Given the description of an element on the screen output the (x, y) to click on. 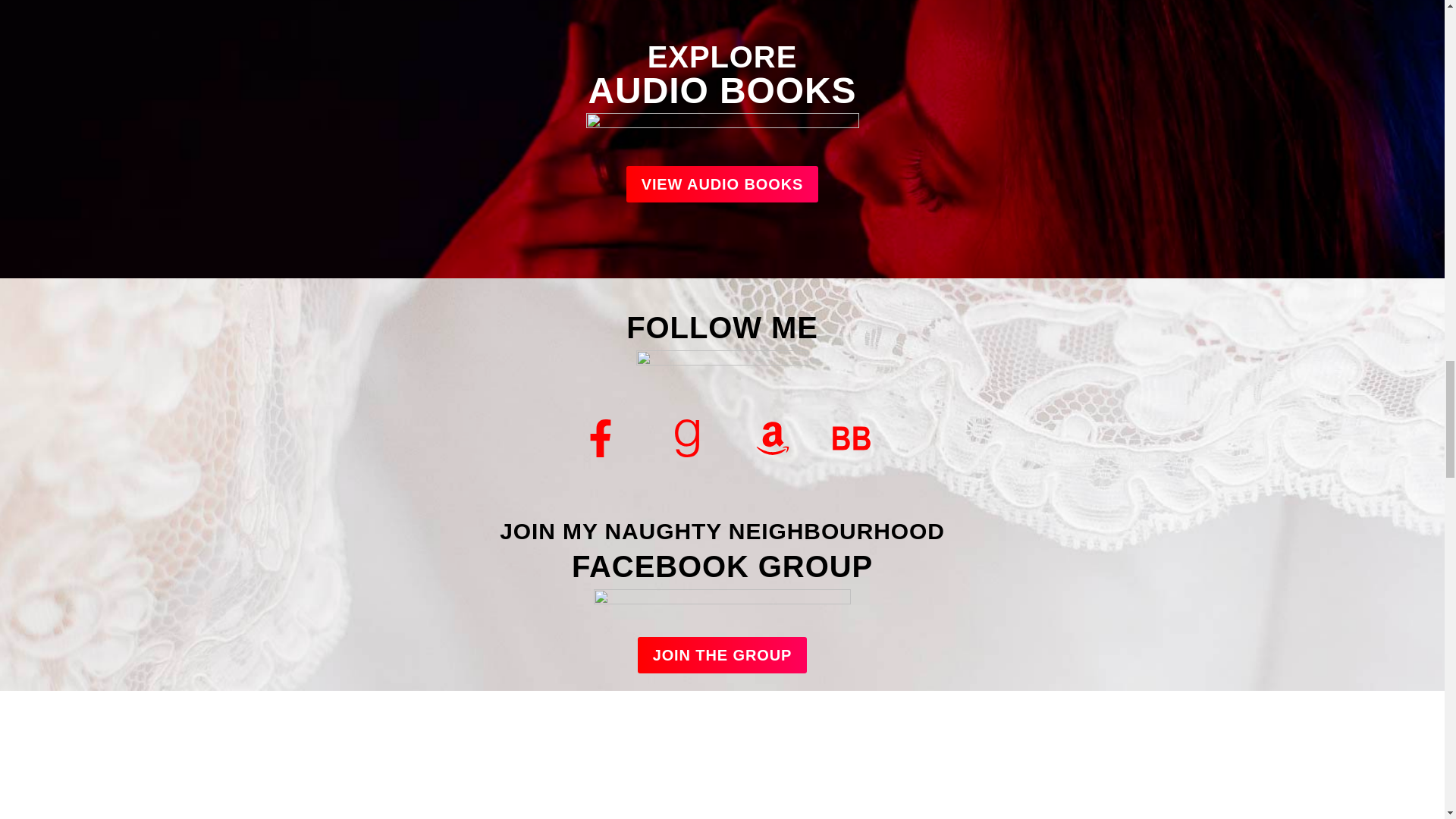
JOIN THE GROUP (722, 655)
VIEW AUDIO BOOKS (722, 184)
